Given the description of an element on the screen output the (x, y) to click on. 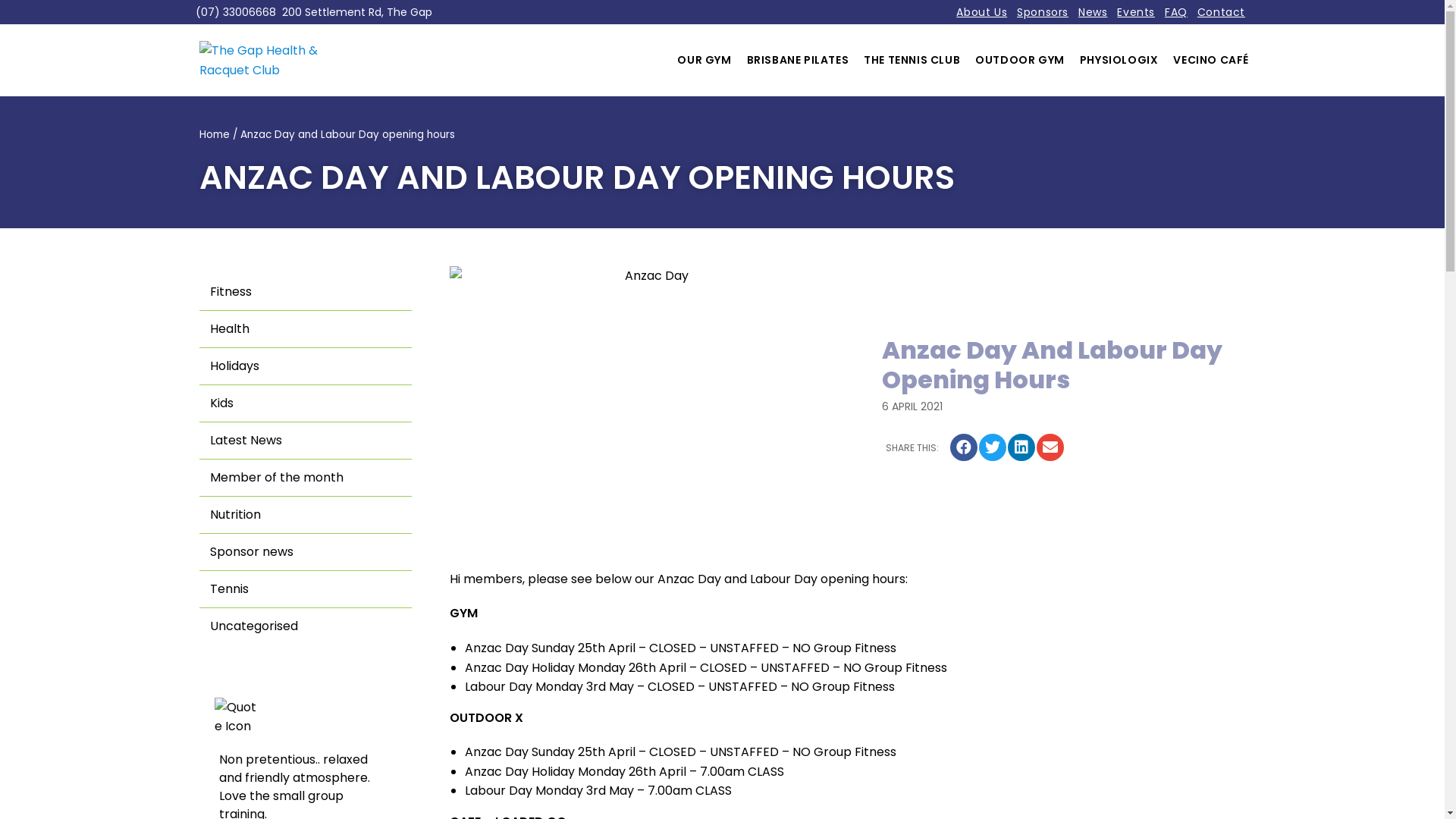
Contact Element type: text (1220, 11)
PHYSIOLOGIX Element type: text (1119, 59)
OUTDOOR GYM Element type: text (1019, 59)
Holidays Element type: text (305, 366)
Uncategorised Element type: text (305, 626)
Nutrition Element type: text (305, 514)
About Us Element type: text (981, 11)
Latest News Element type: text (305, 440)
Kids Element type: text (305, 403)
News Element type: text (1092, 11)
FAQ Element type: text (1176, 11)
Tennis Element type: text (305, 589)
Sponsors Element type: text (1042, 11)
OUR GYM Element type: text (703, 59)
Sponsor news Element type: text (305, 552)
Home Element type: text (214, 134)
Member of the month Element type: text (305, 477)
BRISBANE PILATES Element type: text (797, 59)
THE TENNIS CLUB Element type: text (911, 59)
Health Element type: text (305, 329)
Fitness Element type: text (305, 291)
Events Element type: text (1135, 11)
